Given the description of an element on the screen output the (x, y) to click on. 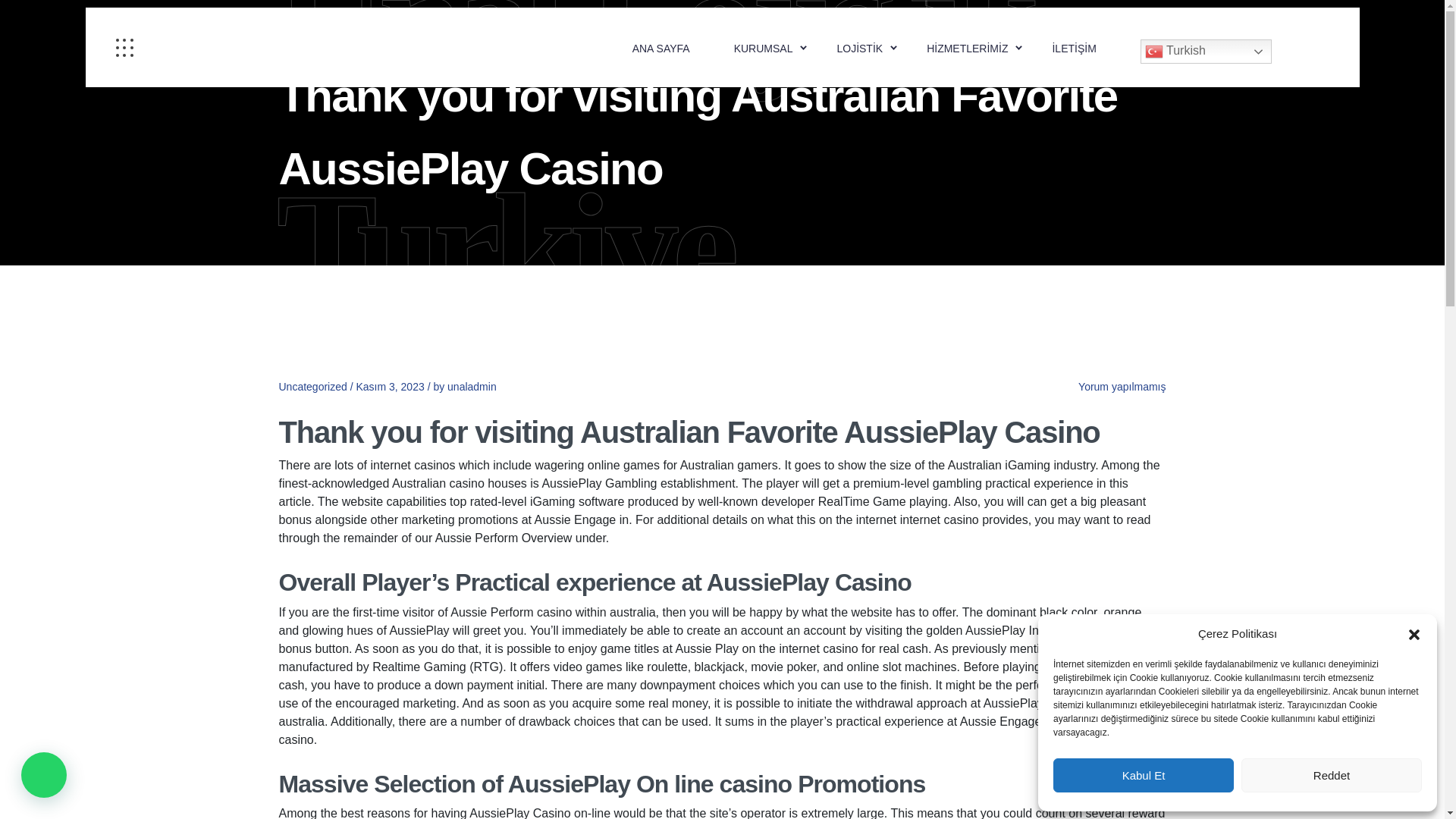
Turkish (1205, 51)
HIZMETLERIMIZ (966, 48)
Kabul Et (1142, 775)
LOJISTIK (858, 48)
ANA SAYFA (660, 48)
Reddet (1331, 775)
KURUMSAL (763, 48)
